Given the description of an element on the screen output the (x, y) to click on. 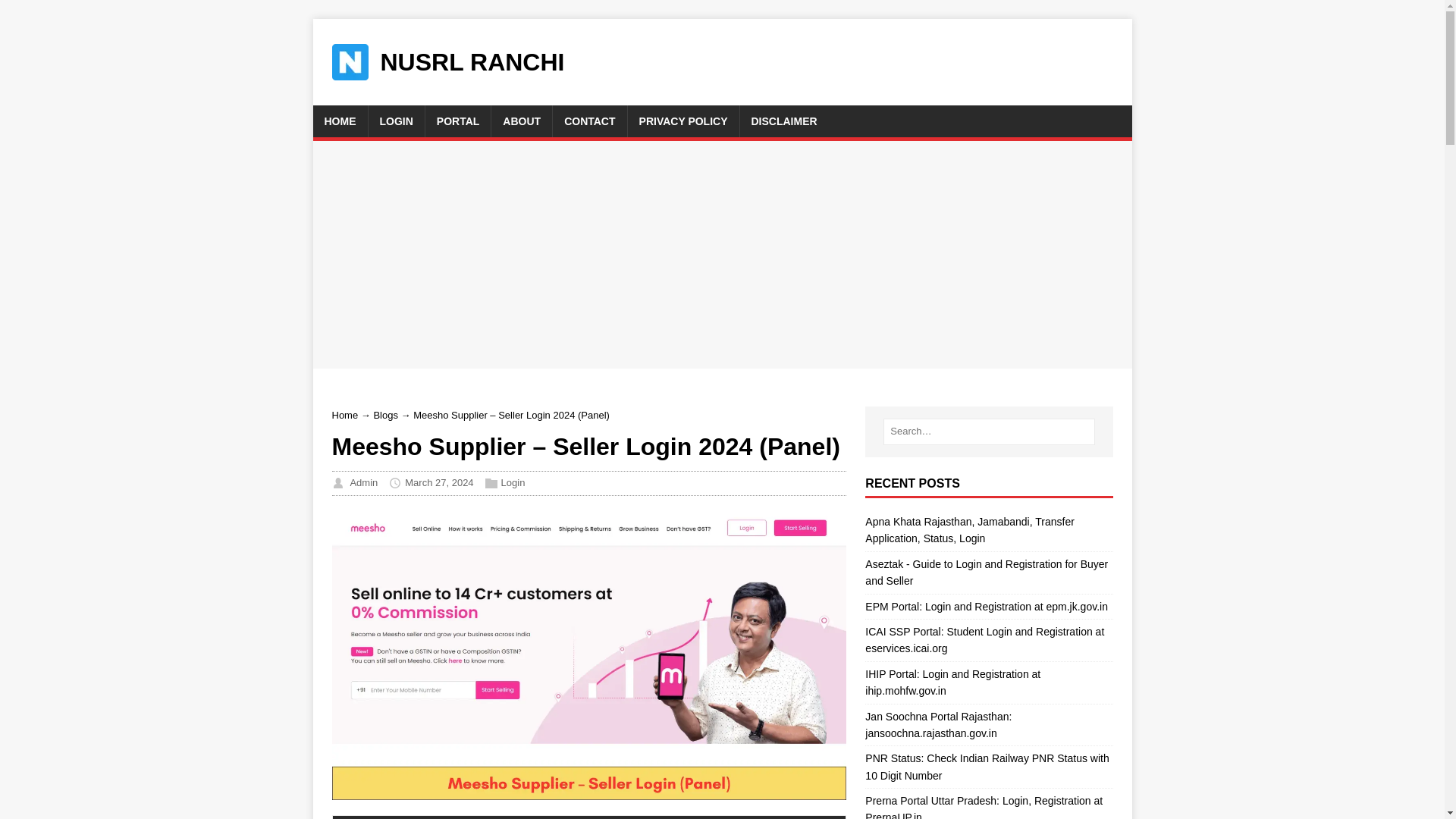
Blogs (384, 414)
Search (56, 14)
PRIVACY POLICY (683, 121)
DISCLAIMER (783, 121)
CONTACT (589, 121)
Home (344, 414)
PORTAL (458, 121)
HOME (339, 121)
EPM Portal: Login and Registration at epm.jk.gov.in (986, 606)
Nusrl Ranchi (453, 61)
Jan Soochna Portal Rajasthan: jansoochna.rajasthan.gov.in (937, 724)
NUSRL RANCHI (453, 61)
